Given the description of an element on the screen output the (x, y) to click on. 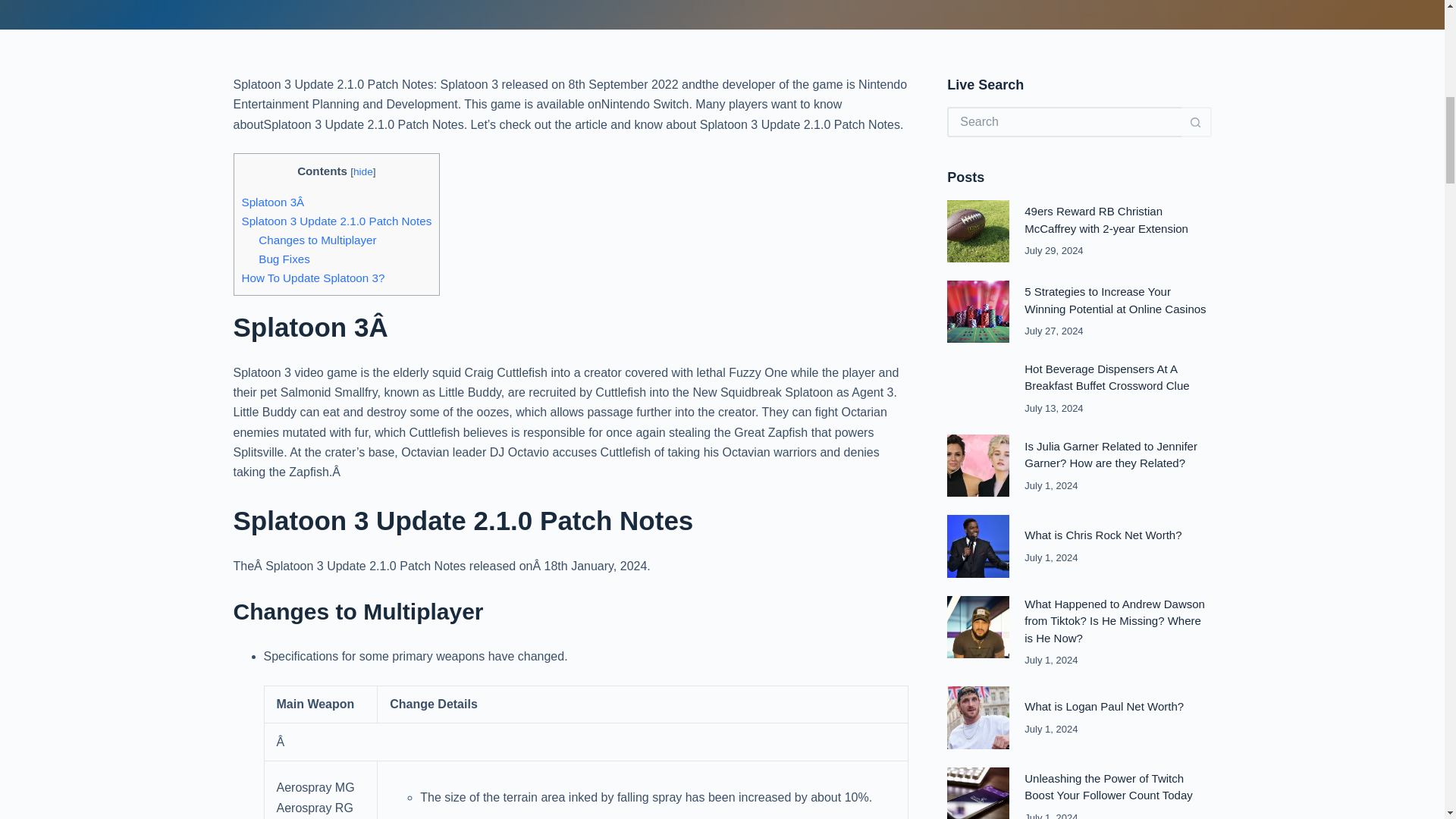
Splatoon 3 Update 2.1.0 Patch Notes (335, 220)
How To Update Splatoon 3? (312, 277)
hide (362, 171)
Hot Beverage Dispensers At A Breakfast Buffet Crossword Clue (1107, 377)
Search for... (1063, 122)
49ers Reward RB Christian McCaffrey with 2-year Extension (1106, 219)
Bug Fixes (284, 258)
Changes to Multiplayer (317, 239)
